Given the description of an element on the screen output the (x, y) to click on. 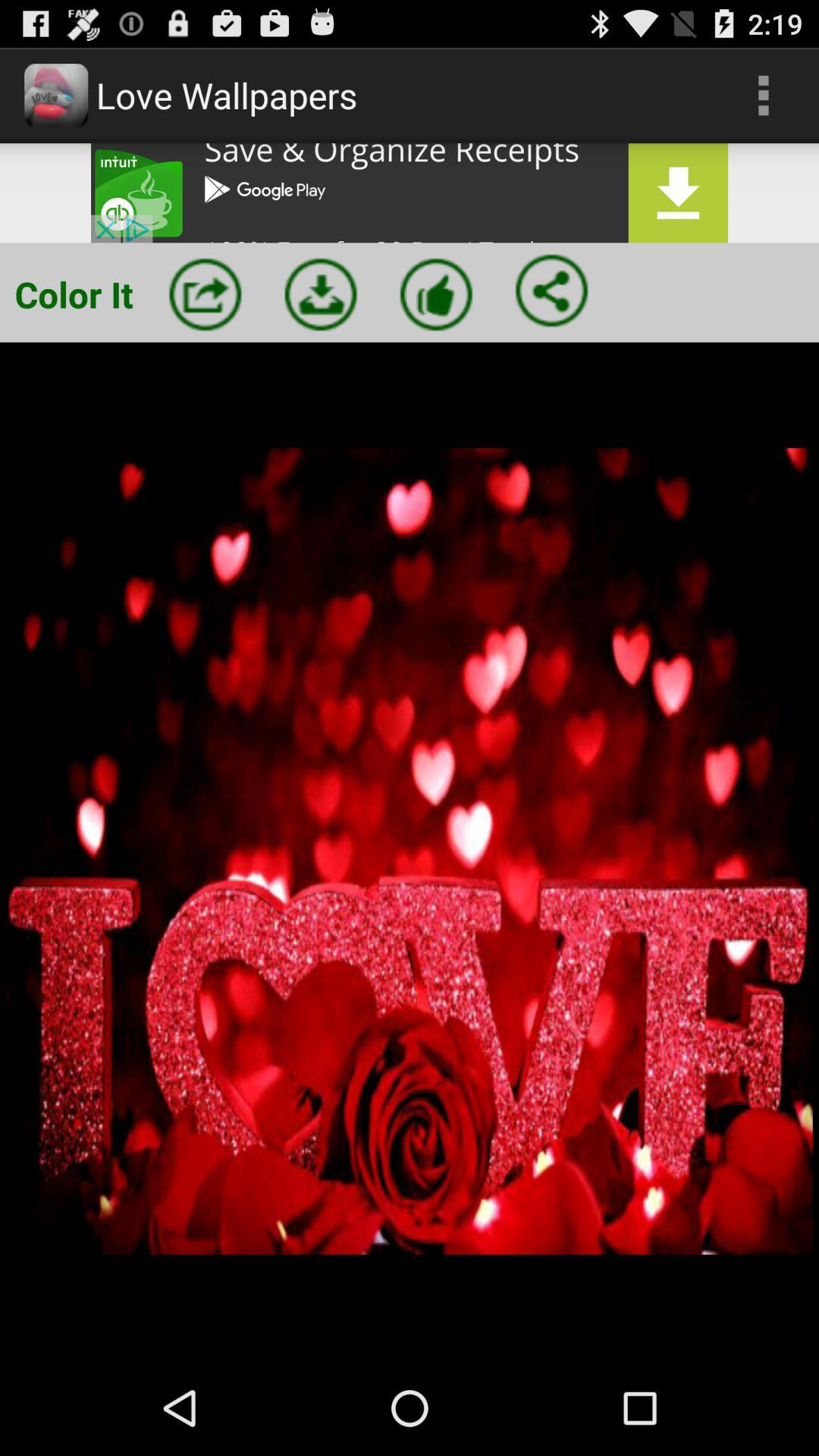
launch advertisement (409, 192)
